Given the description of an element on the screen output the (x, y) to click on. 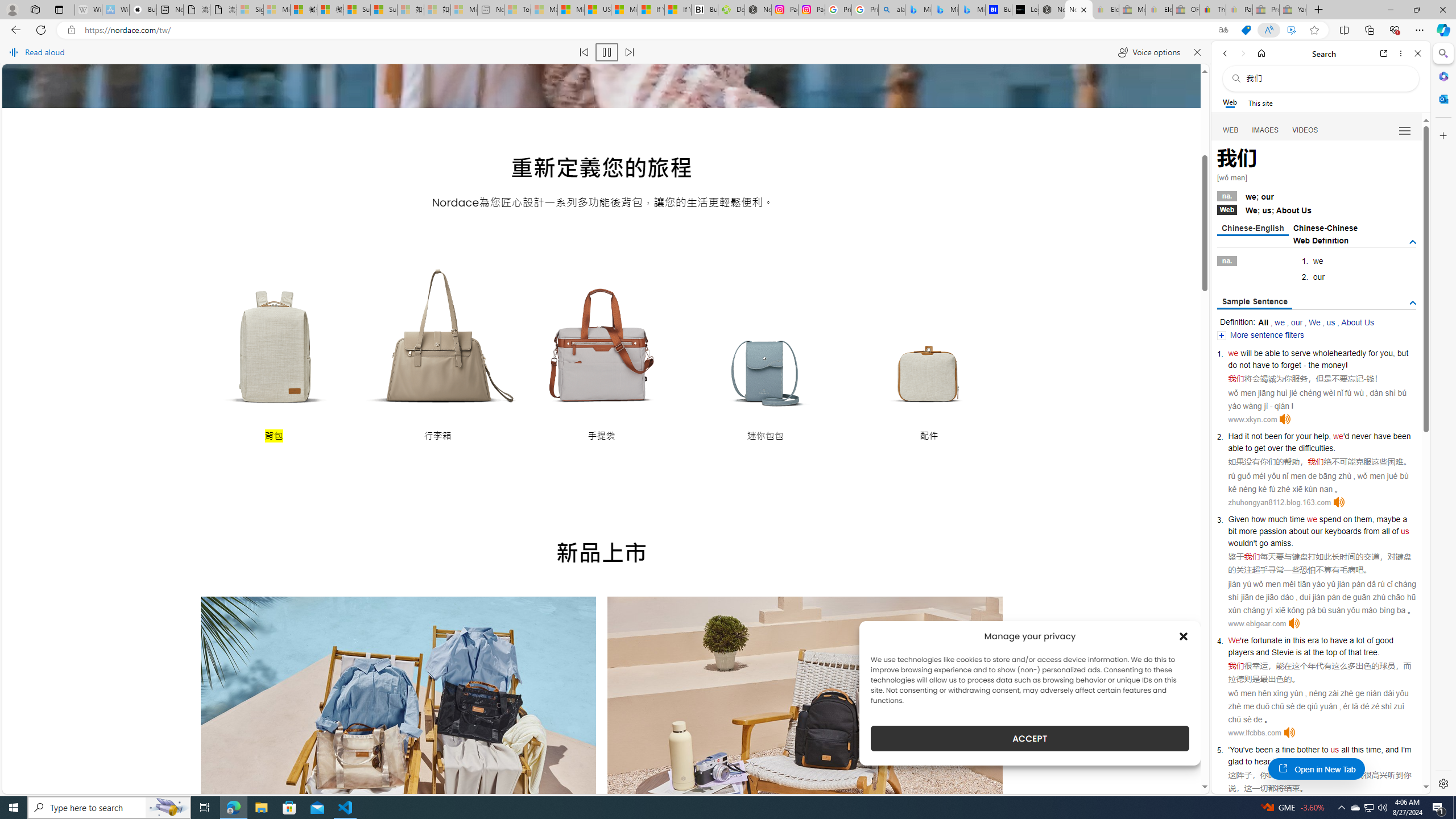
to (1323, 640)
about (1298, 530)
Buy iPad - Apple (143, 9)
difficulties (1315, 447)
www.ebigear.com (1257, 623)
never (1361, 435)
